Given the description of an element on the screen output the (x, y) to click on. 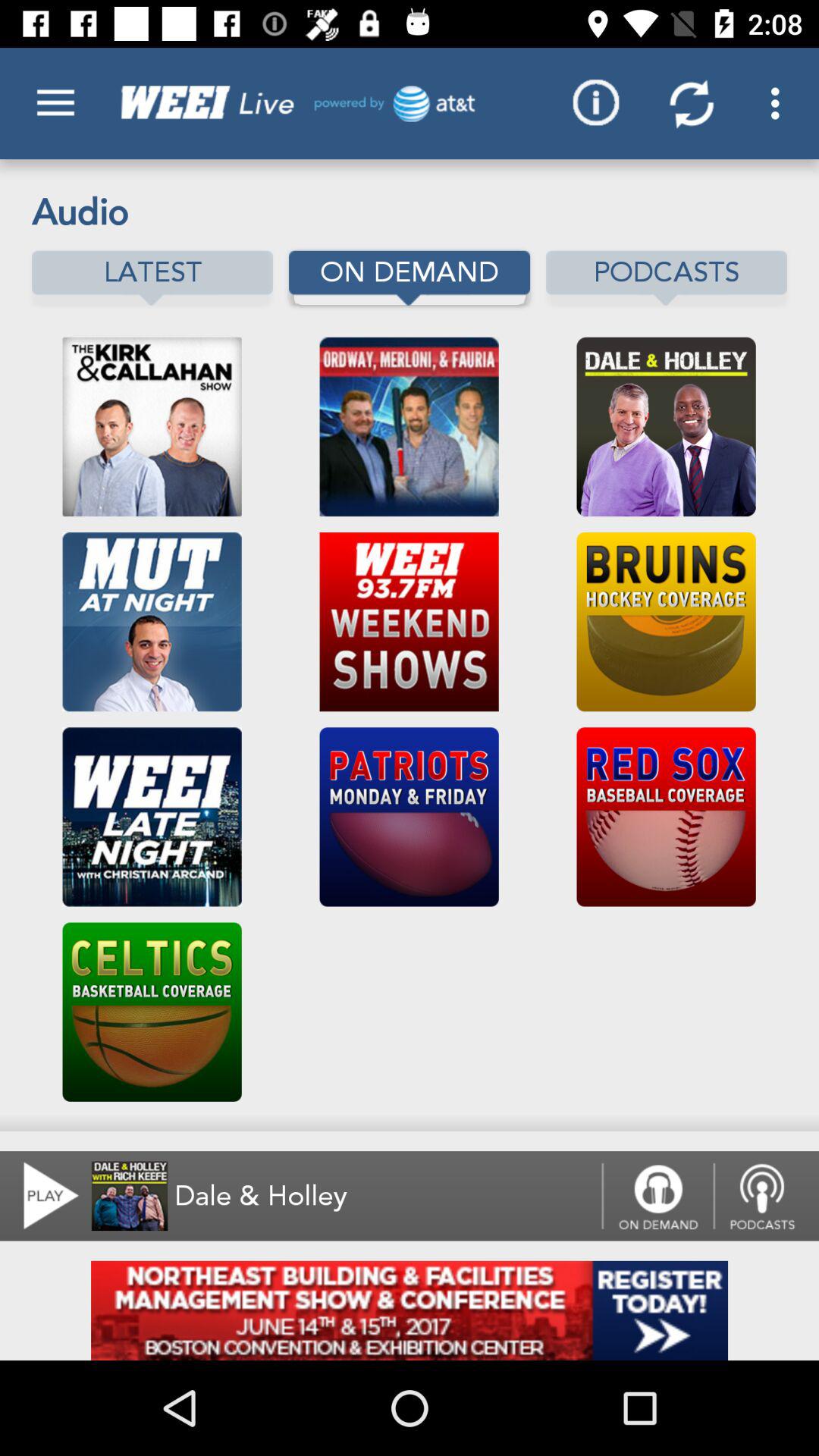
click on the entity podcasts (666, 277)
move to the box that reads on demand (409, 277)
move to the second image below podcasts (666, 621)
click on the second button from top right corner (691, 103)
click on the first image in the third row (152, 816)
click on the second image from the bottom second row (409, 816)
click on last but one image at the bottom of the page (152, 1012)
click on the second image from top second row (409, 621)
